Given the description of an element on the screen output the (x, y) to click on. 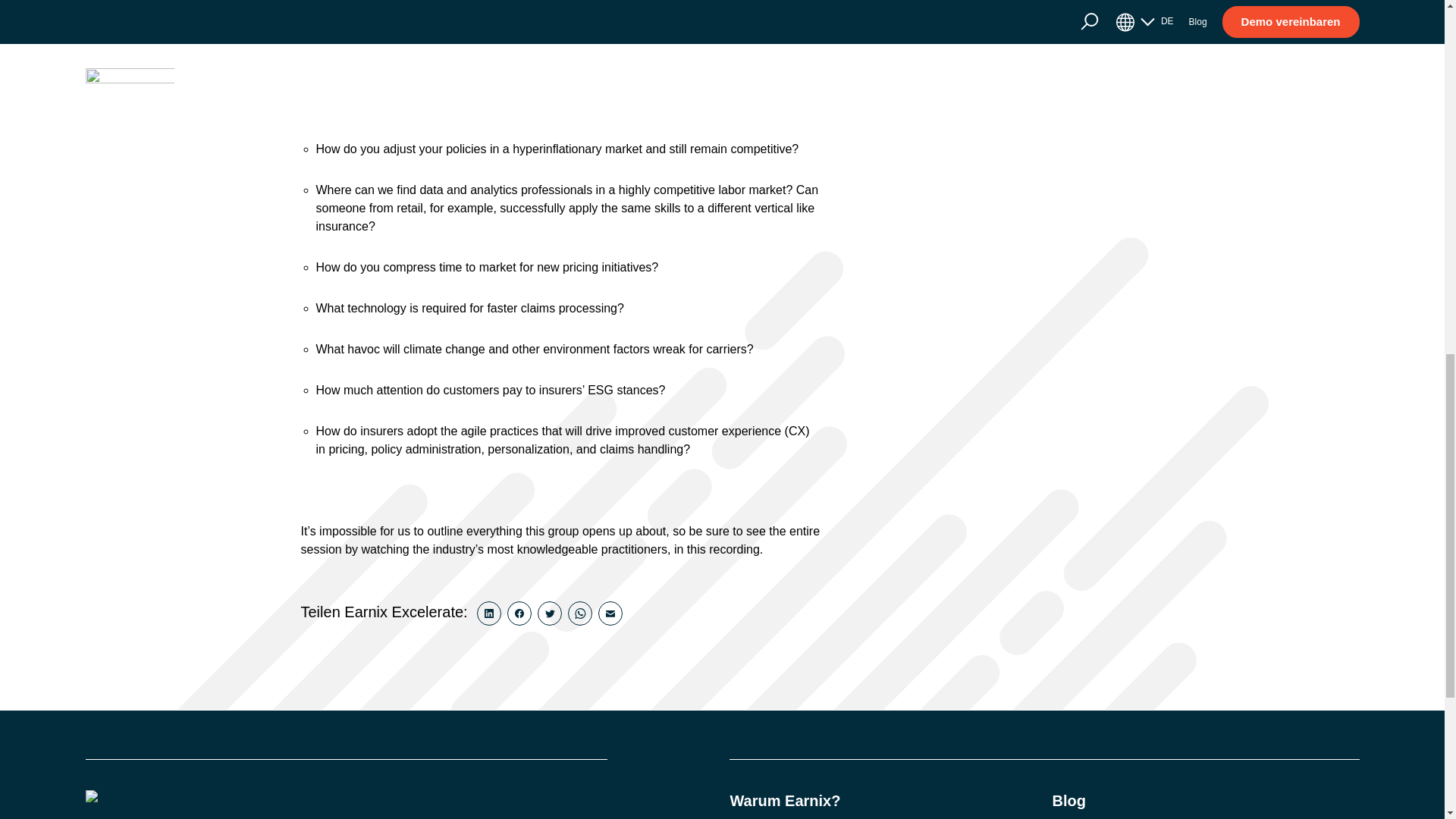
Submit (991, 55)
on (867, 13)
